Given the description of an element on the screen output the (x, y) to click on. 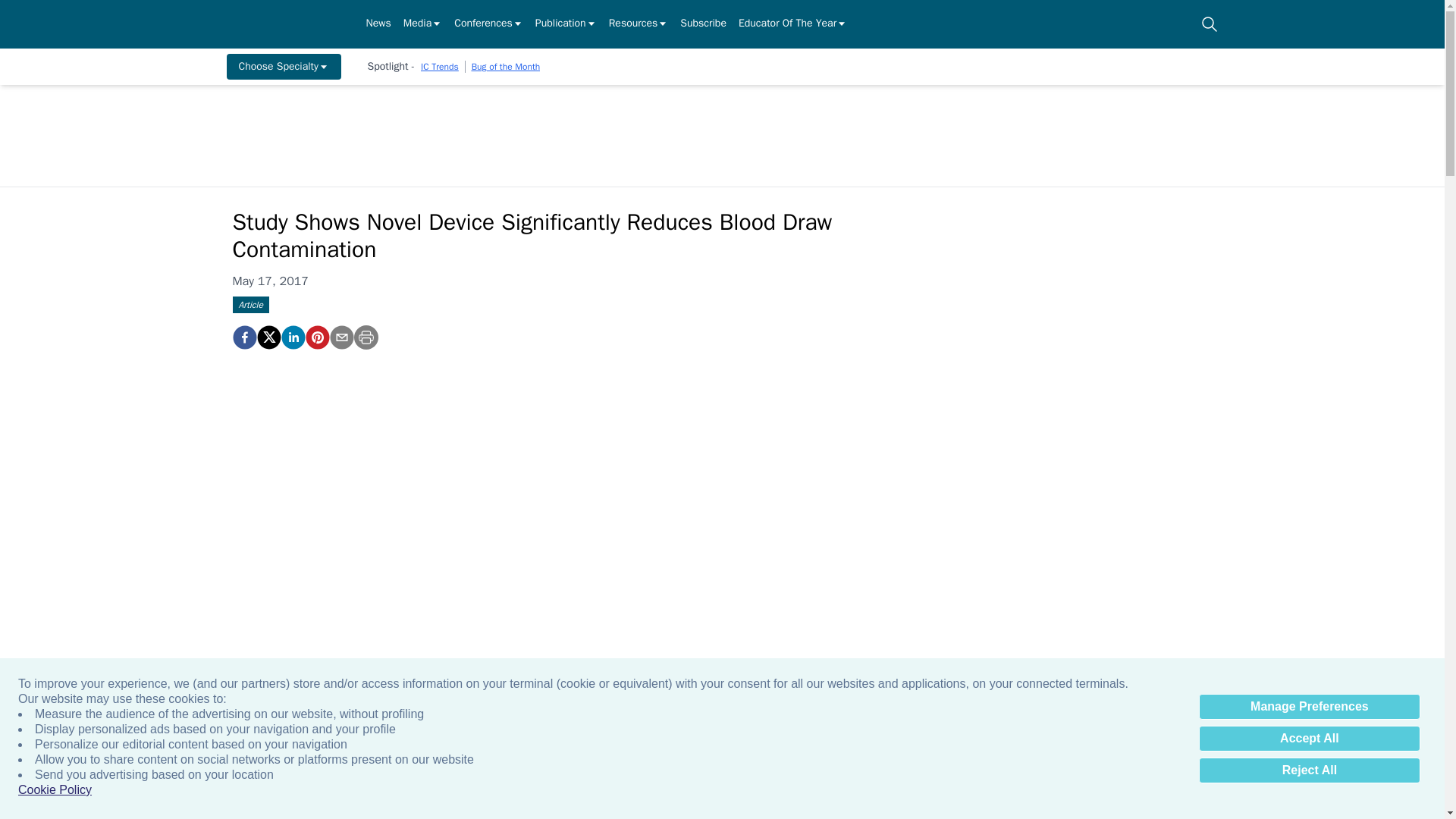
Manage Preferences (1309, 706)
Cookie Policy (54, 789)
Publication (565, 23)
Conferences (488, 23)
Educator Of The Year (792, 23)
Accept All (1309, 738)
Reject All (1309, 769)
Choose Specialty (282, 66)
News (377, 23)
Subscribe (702, 23)
Resources (638, 23)
Media (422, 23)
